Given the description of an element on the screen output the (x, y) to click on. 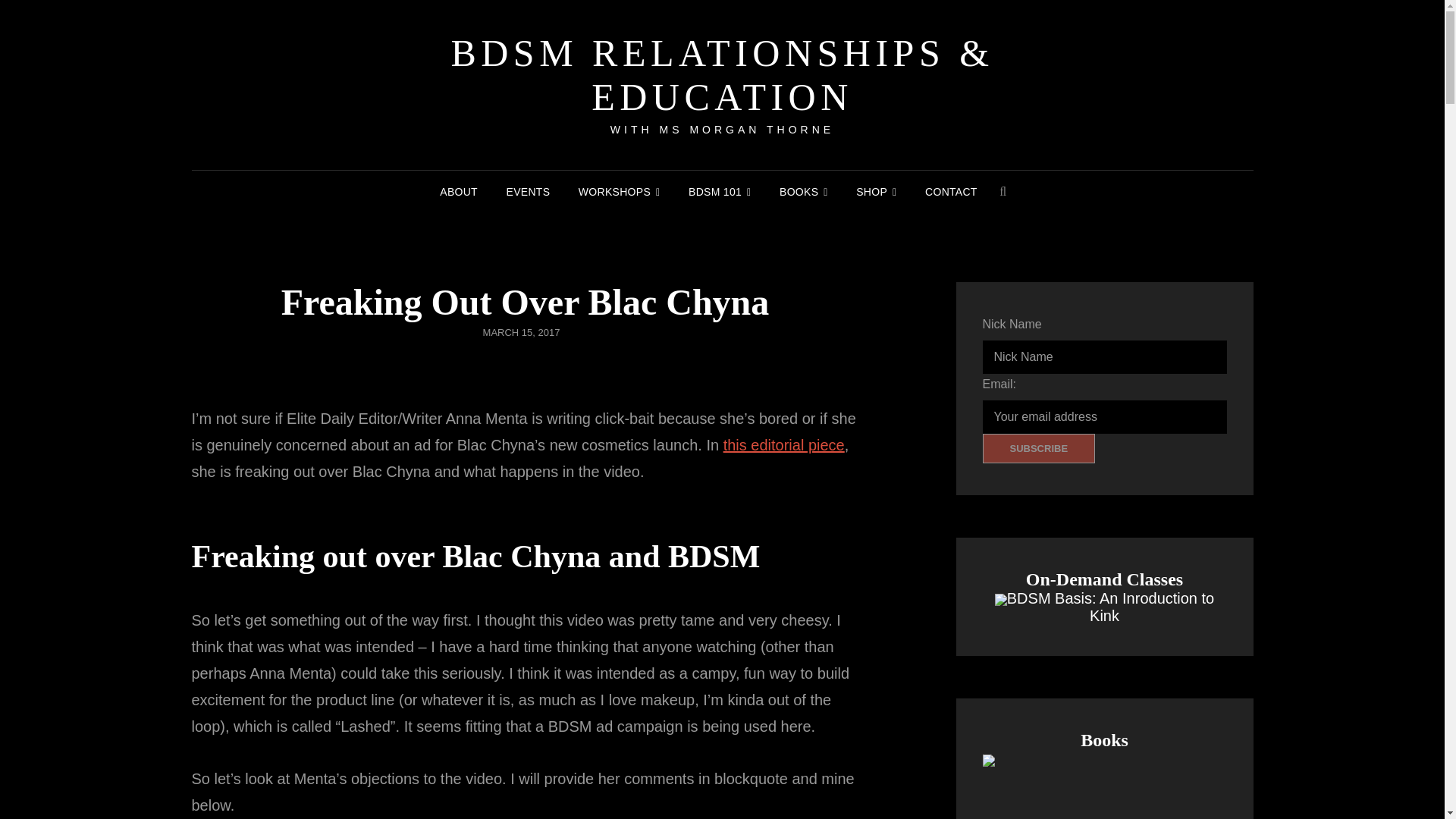
WORKSHOPS (619, 191)
Subscribe (1039, 448)
Nick Name (1104, 356)
EVENTS (528, 191)
ABOUT (458, 191)
